Given the description of an element on the screen output the (x, y) to click on. 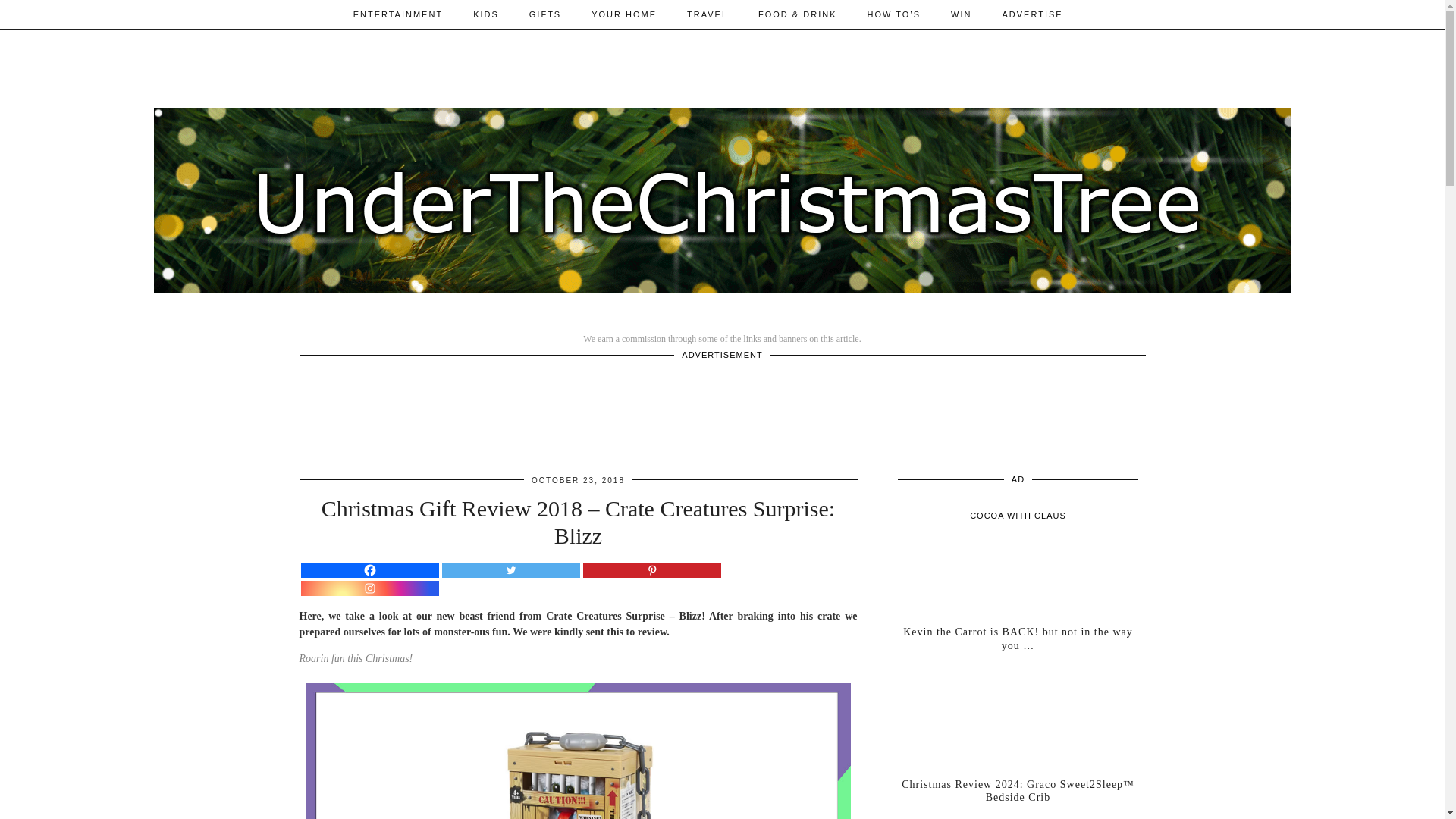
Twitter (510, 570)
Instagram (368, 588)
WIN (961, 14)
GIFTS (544, 14)
YOUR HOME (623, 14)
Pinterest (651, 570)
Facebook (368, 570)
TRAVEL (706, 14)
KIDS (485, 14)
ADVERTISE (1032, 14)
